Given the description of an element on the screen output the (x, y) to click on. 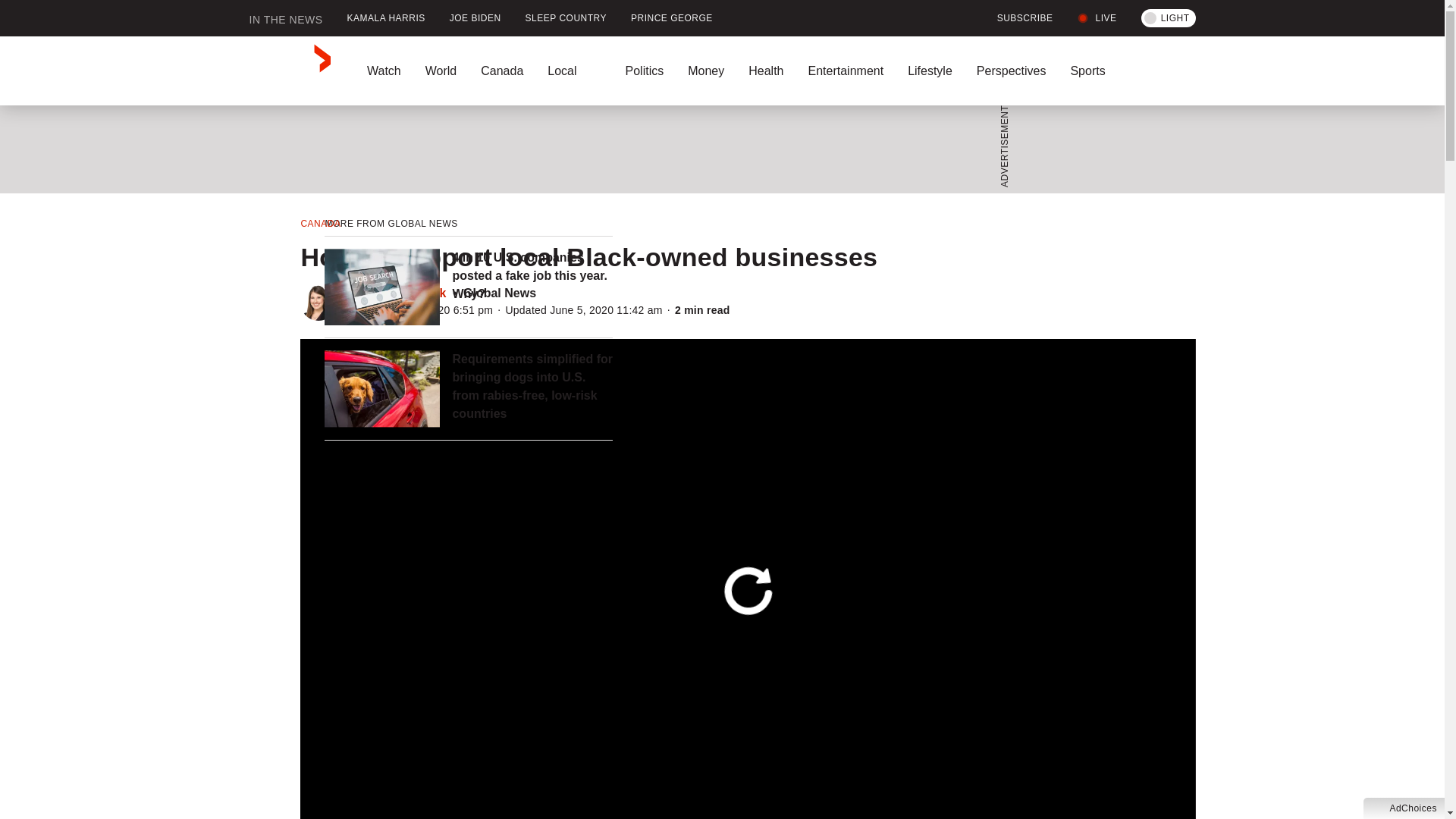
Perspectives (1010, 70)
Local (573, 70)
Lifestyle (929, 70)
Posts by Morgan Black (406, 293)
PRINCE GEORGE (671, 18)
GlobalNews home (289, 70)
SUBSCRIBE (1015, 18)
Entertainment (844, 70)
Politics (643, 70)
SLEEP COUNTRY (565, 18)
JOE BIDEN (475, 18)
4 in 10 U.S. companies posted a fake job this year. Why? (531, 275)
3rd party ad content (716, 149)
